Given the description of an element on the screen output the (x, y) to click on. 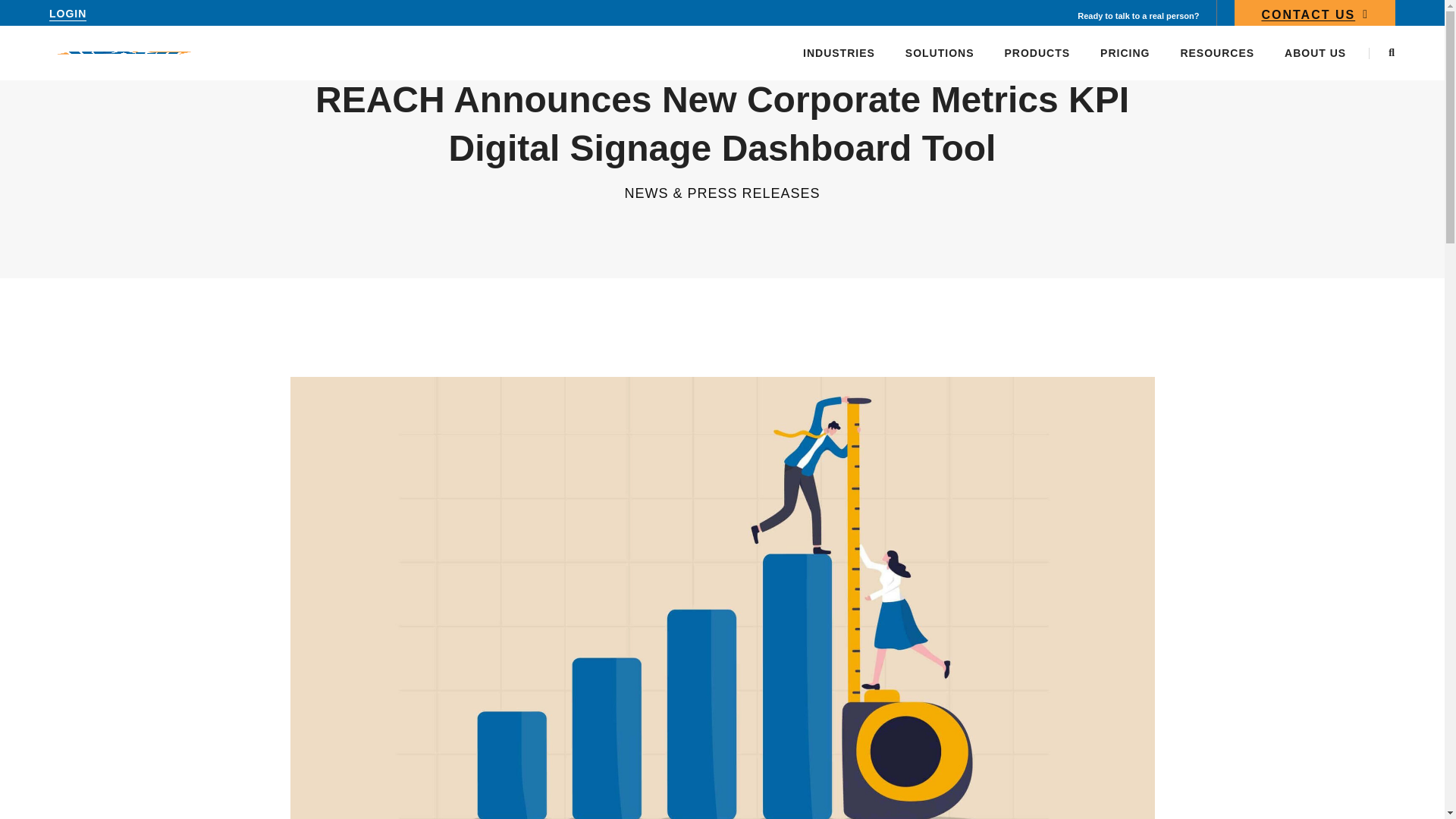
REACH Media Network (124, 51)
INDUSTRIES (839, 52)
RESOURCES (1216, 52)
PRODUCTS (1037, 52)
LOGIN (67, 13)
PRICING (1125, 52)
SOLUTIONS (939, 52)
CONTACT US (1314, 16)
